Given the description of an element on the screen output the (x, y) to click on. 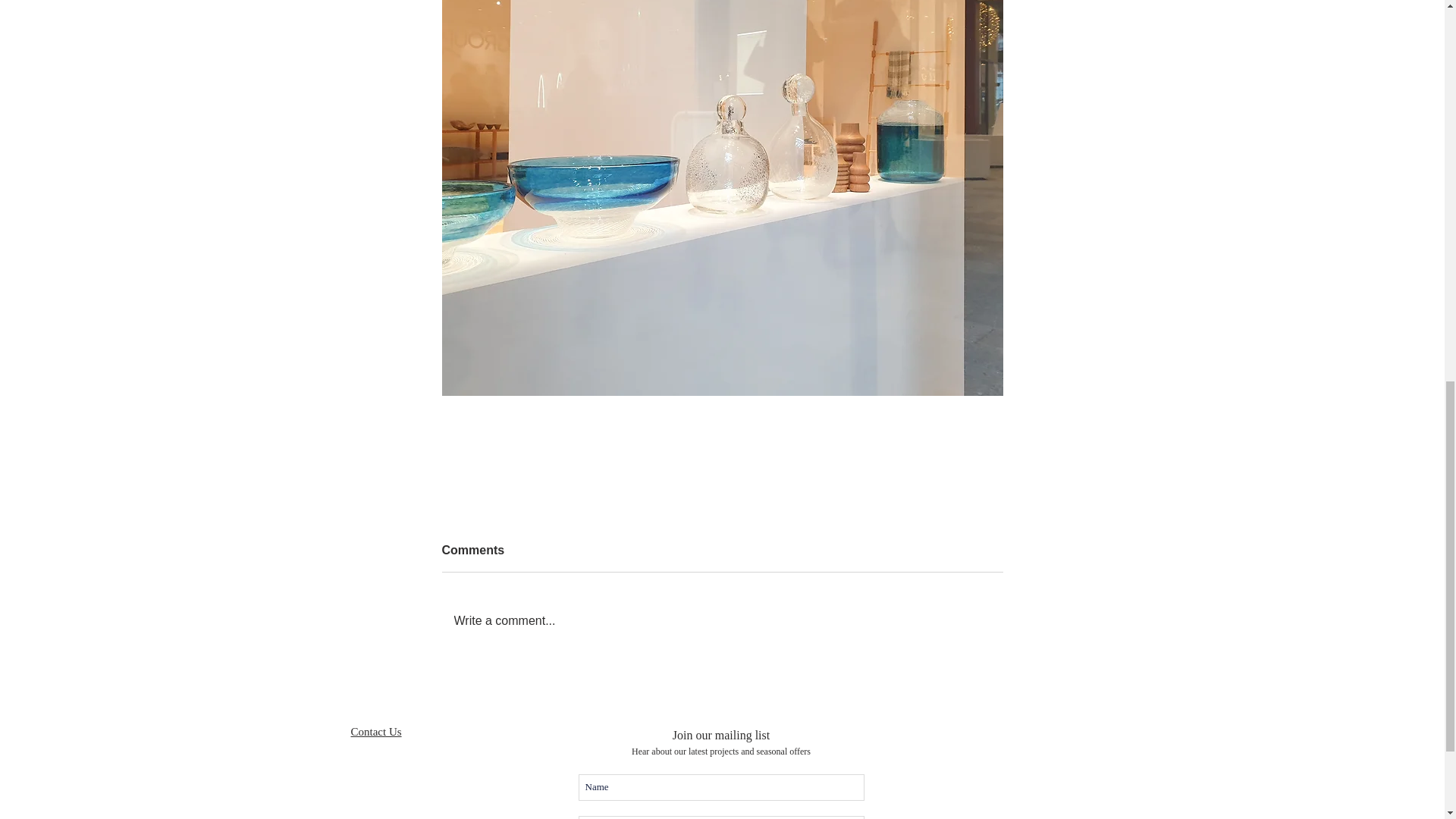
Contact Us (375, 731)
Write a comment... (722, 620)
